Given the description of an element on the screen output the (x, y) to click on. 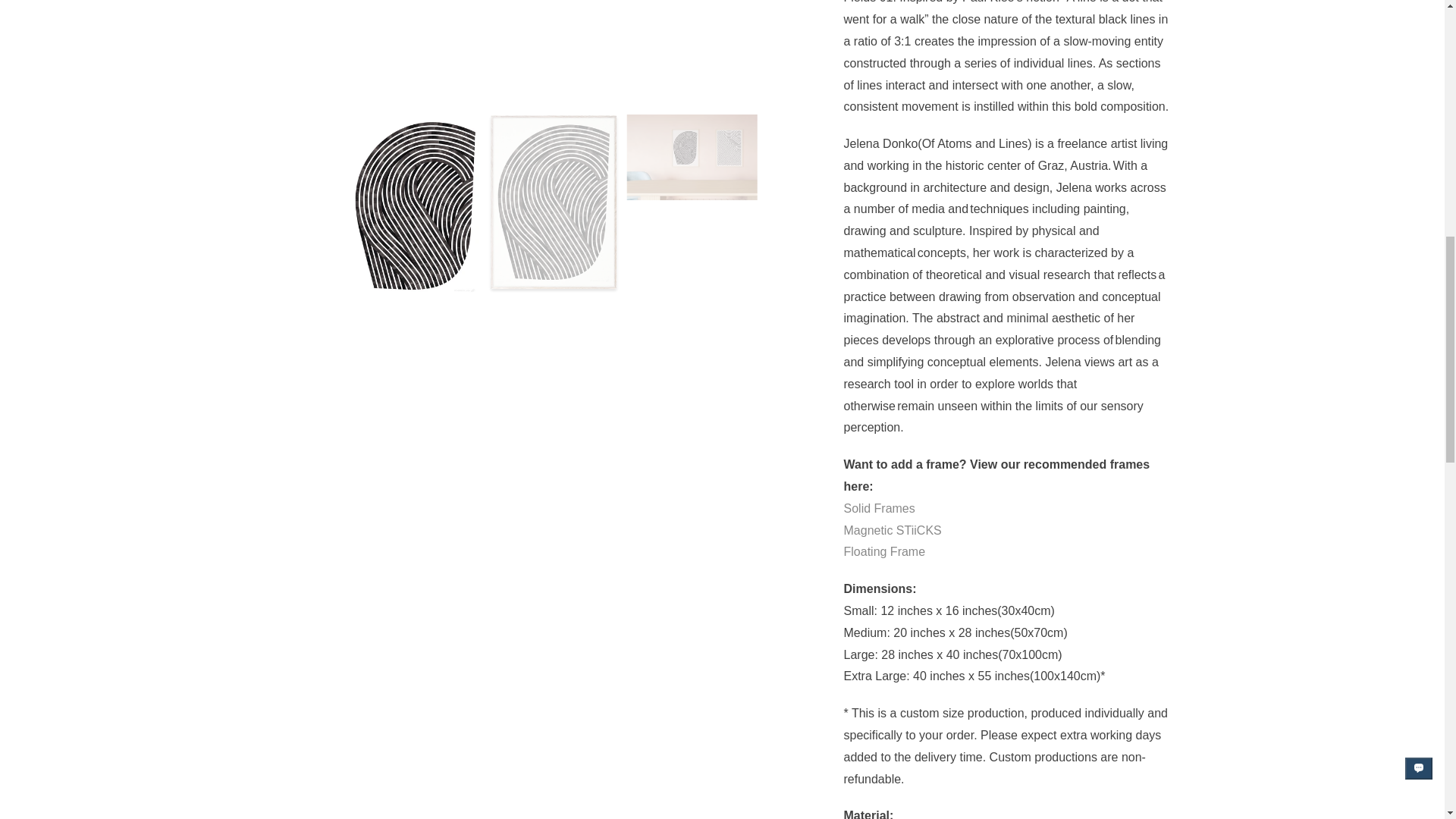
Floating Frame (883, 551)
Magnetic STiiCKS (891, 530)
Quantum Fields 01 (552, 49)
Solid Frames (878, 508)
